Given the description of an element on the screen output the (x, y) to click on. 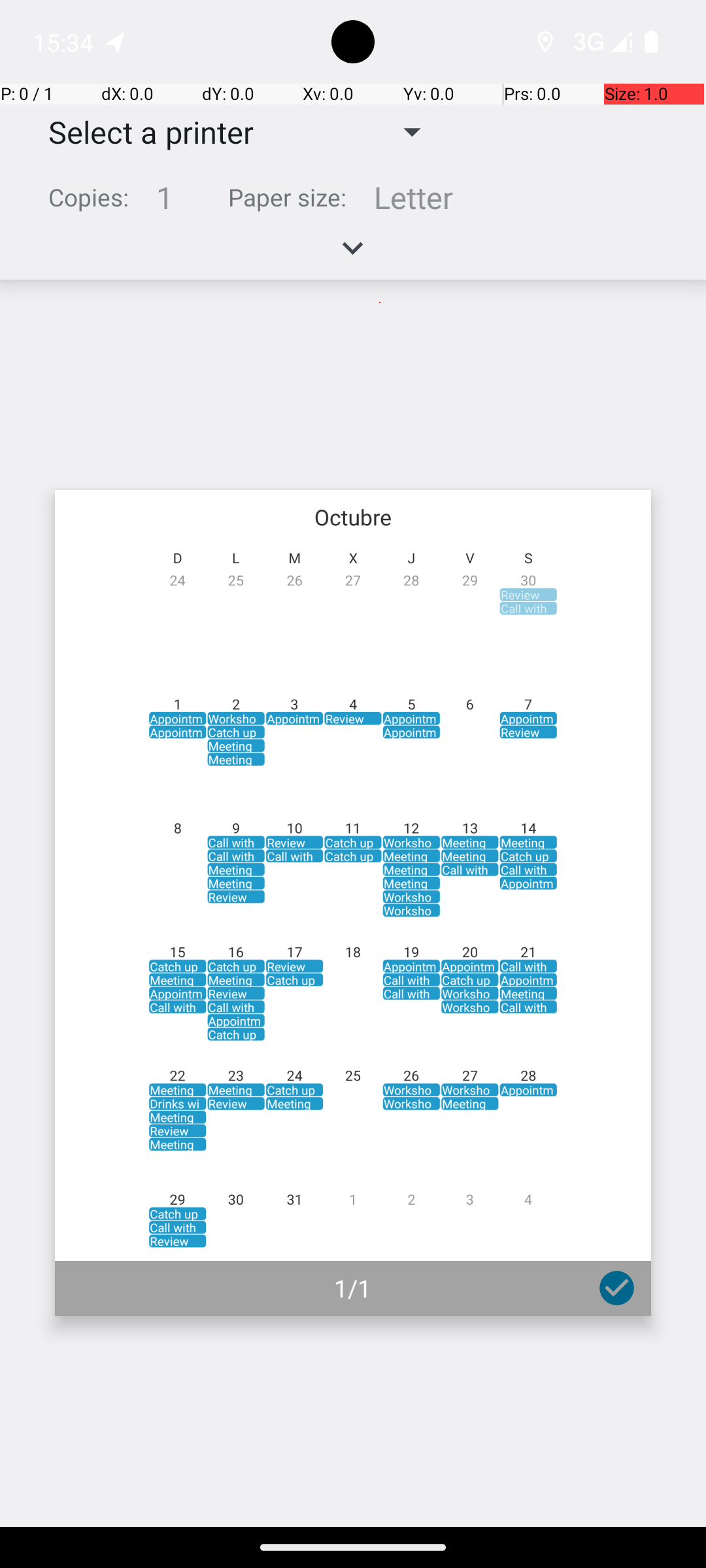
Expand handle Element type: android.widget.FrameLayout (353, 255)
Summary, copies 1, paper size Letter Element type: android.widget.LinearLayout (353, 202)
Select a printer Element type: android.widget.TextView (140, 131)
Copies: Element type: android.widget.TextView (88, 196)
Paper size: Element type: android.widget.TextView (287, 196)
Letter Element type: android.widget.TextView (413, 196)
Page 1 of 1 Element type: android.widget.CompoundButton (352, 902)
1/1 Element type: android.widget.TextView (352, 1287)
